Given the description of an element on the screen output the (x, y) to click on. 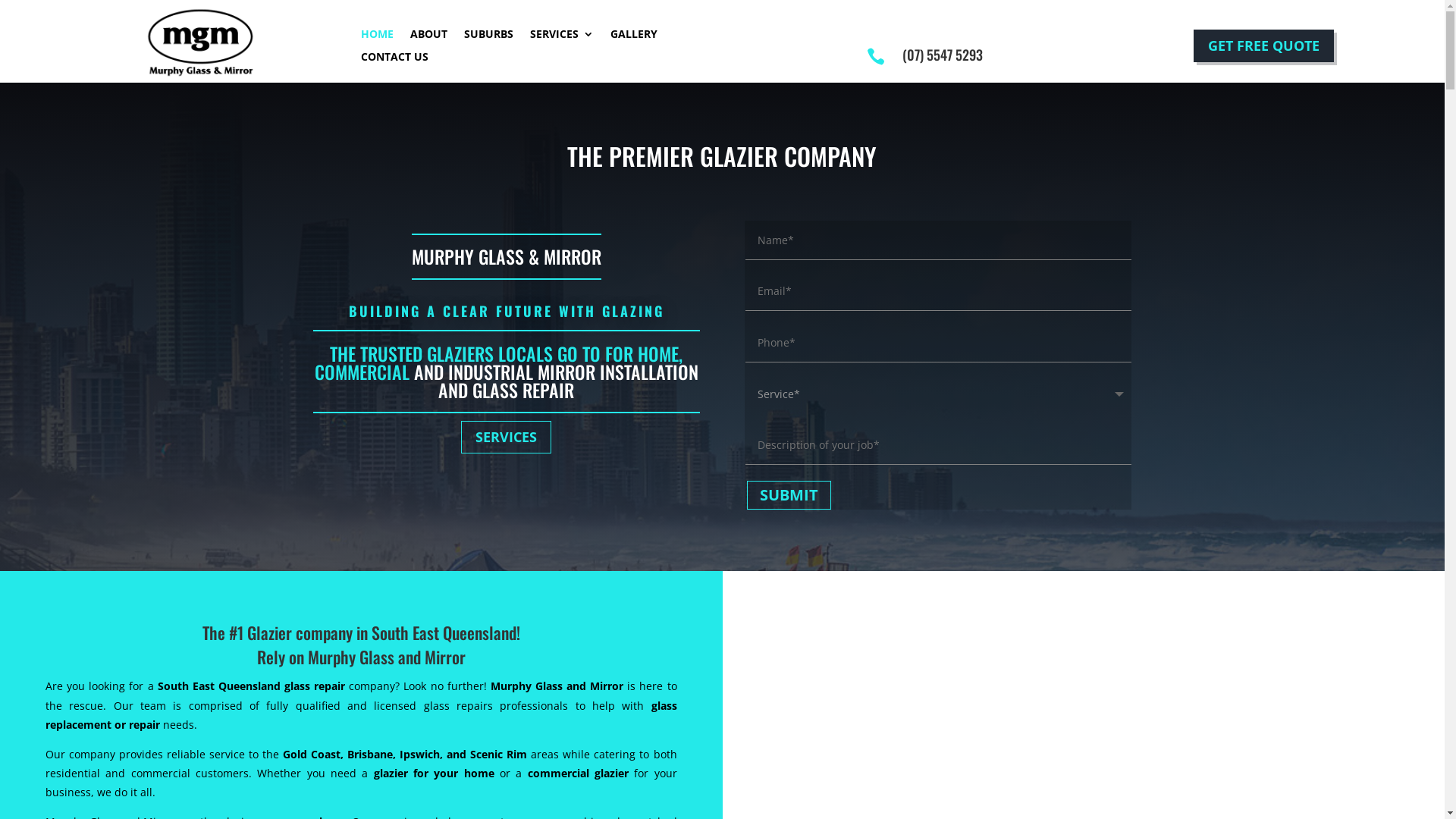
GALLERY Element type: text (633, 36)
SERVICES Element type: text (561, 36)
ABOUT Element type: text (428, 36)
HOME Element type: text (376, 36)
SERVICES Element type: text (506, 436)
SUBMIT Element type: text (788, 495)
GET FREE QUOTE Element type: text (1263, 45)
(07) 5547 5293 Element type: text (942, 54)
SUBURBS Element type: text (488, 36)
CONTACT US Element type: text (394, 59)
